Given the description of an element on the screen output the (x, y) to click on. 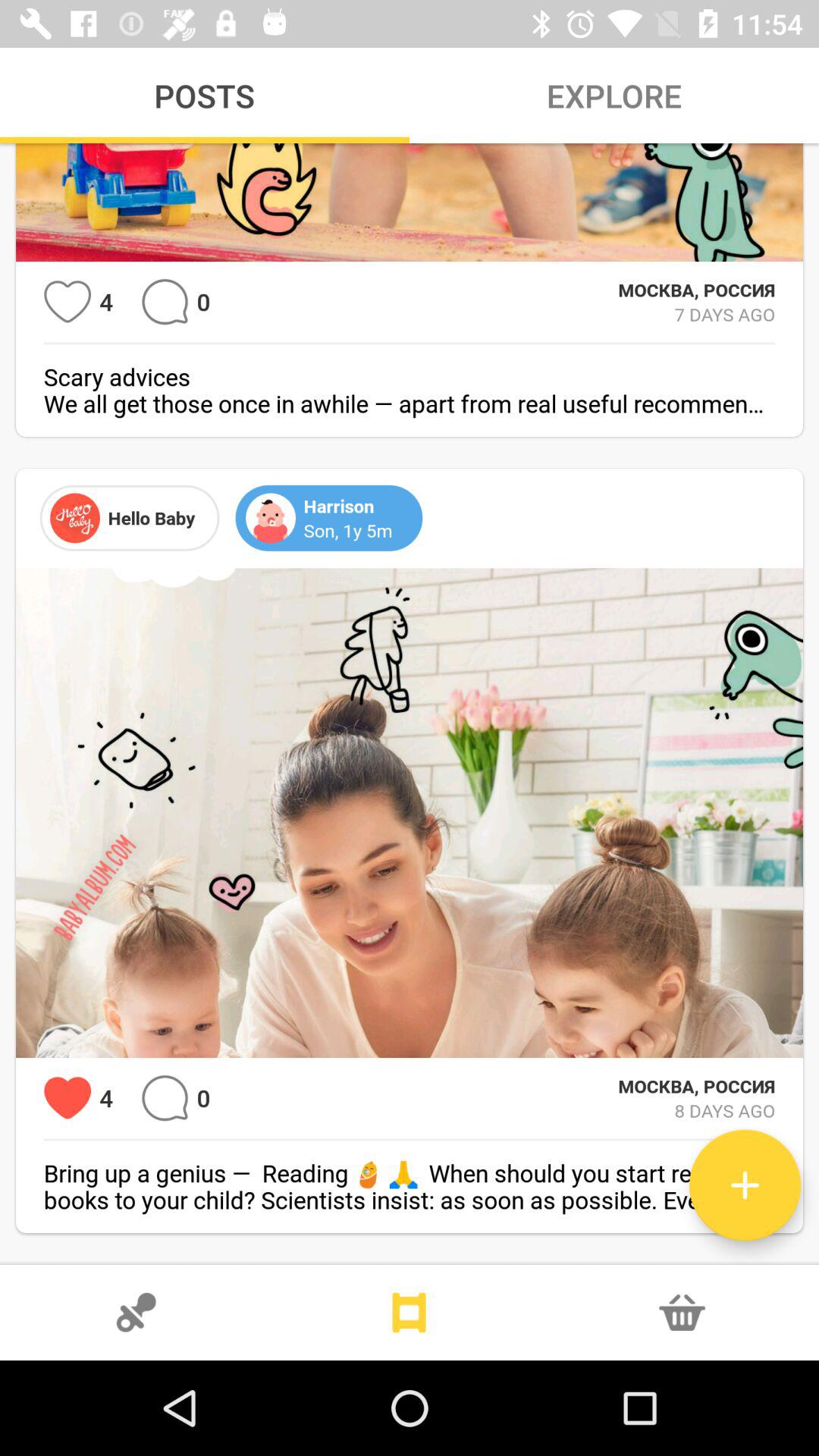
check shopping basket (682, 1312)
